Given the description of an element on the screen output the (x, y) to click on. 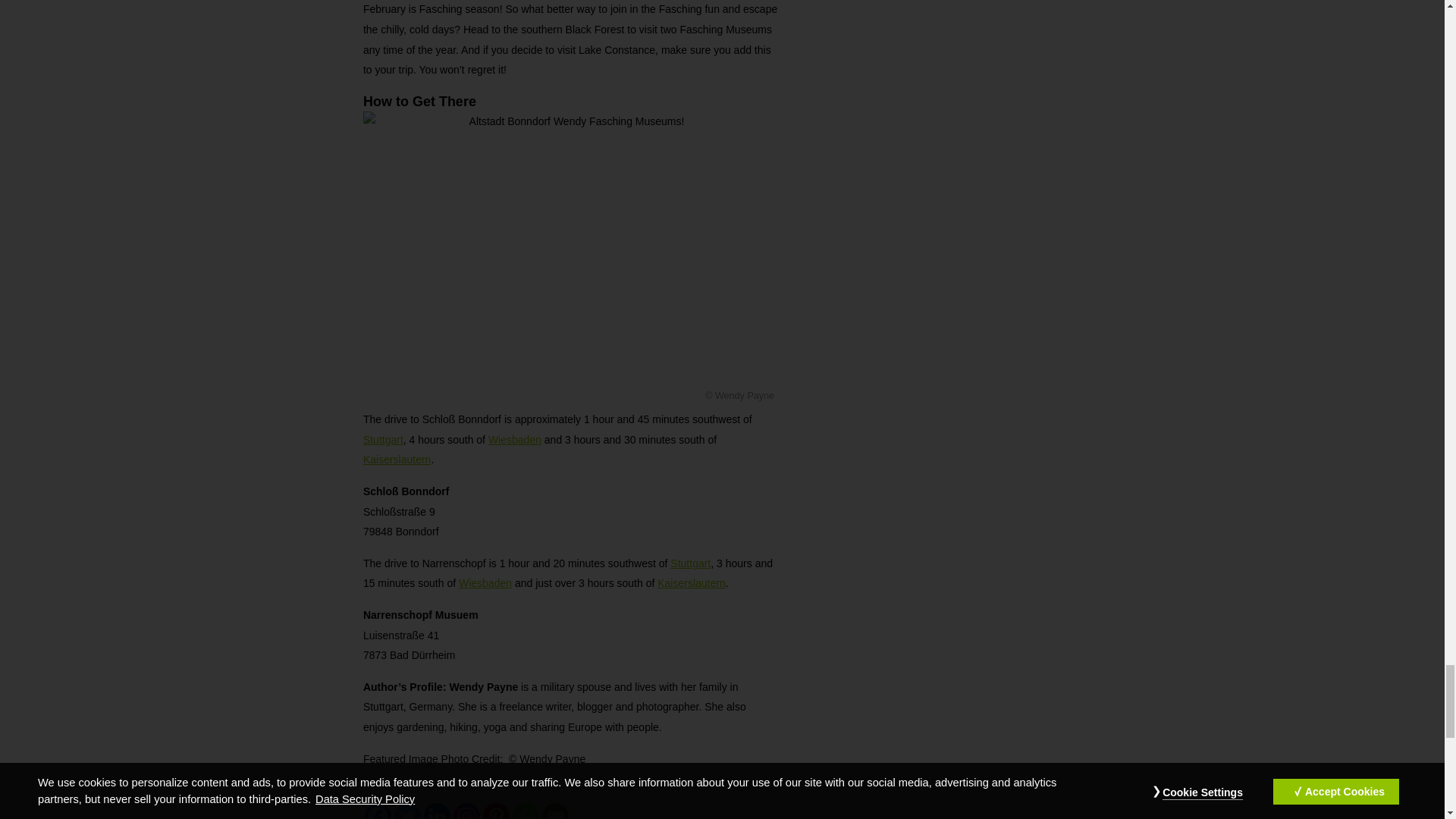
Twitter (407, 811)
Linkedin (436, 811)
Instagram (466, 811)
Pinterest (496, 811)
Facebook (378, 811)
